Given the description of an element on the screen output the (x, y) to click on. 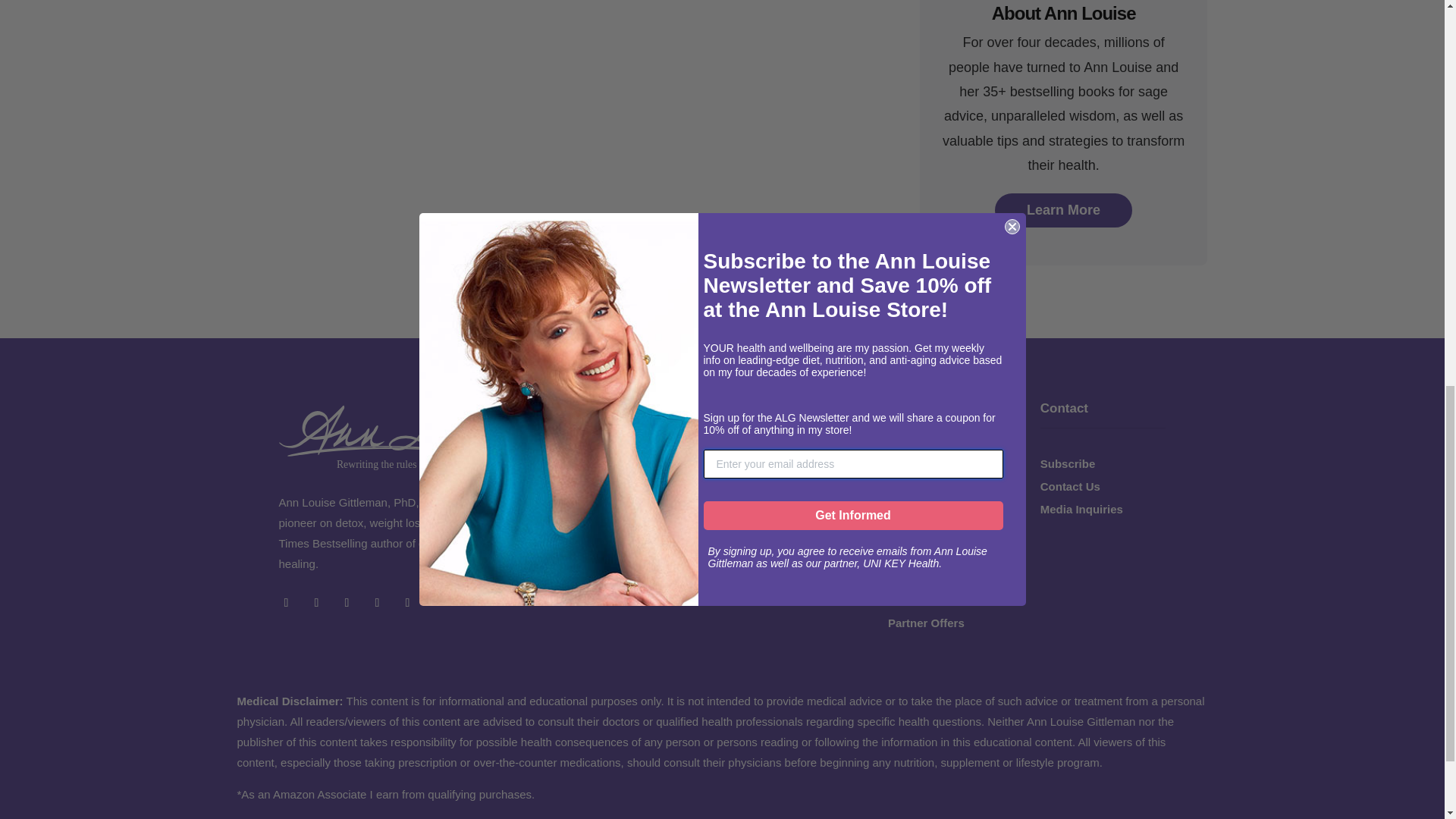
Follow on Youtube (377, 601)
Follow on Facebook (286, 601)
Follow on Pinterest (408, 601)
Follow on Instagram (346, 601)
Follow on X (316, 601)
